Given the description of an element on the screen output the (x, y) to click on. 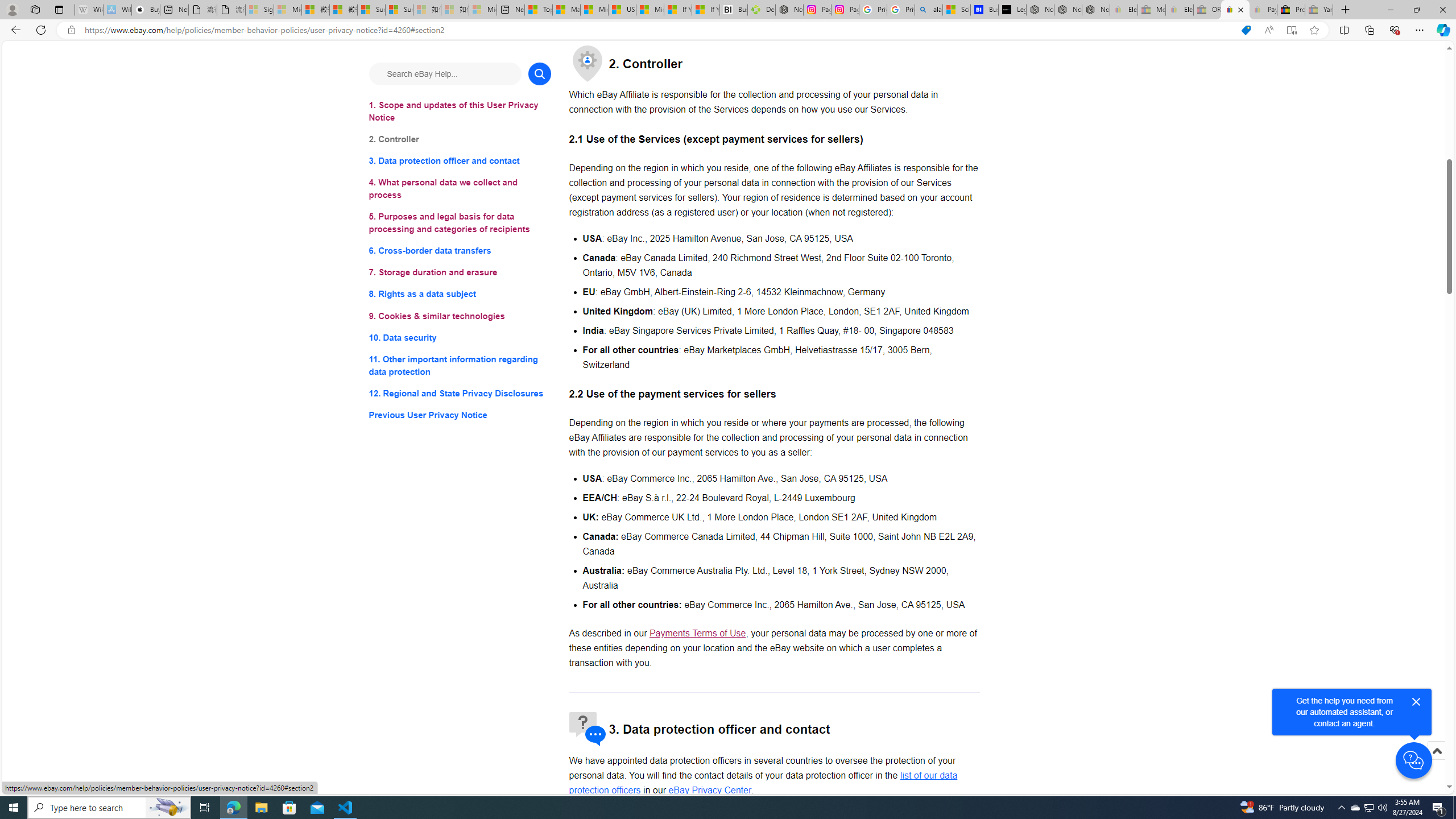
1. Scope and updates of this User Privacy Notice (459, 111)
Scroll to top (1435, 750)
Press Room - eBay Inc. (1291, 9)
Top Stories - MSN (538, 9)
Payments Terms of Use | eBay.com - Sleeping (1262, 9)
Microsoft Services Agreement - Sleeping (288, 9)
2. Controller (459, 138)
8. Rights as a data subject (459, 293)
